Given the description of an element on the screen output the (x, y) to click on. 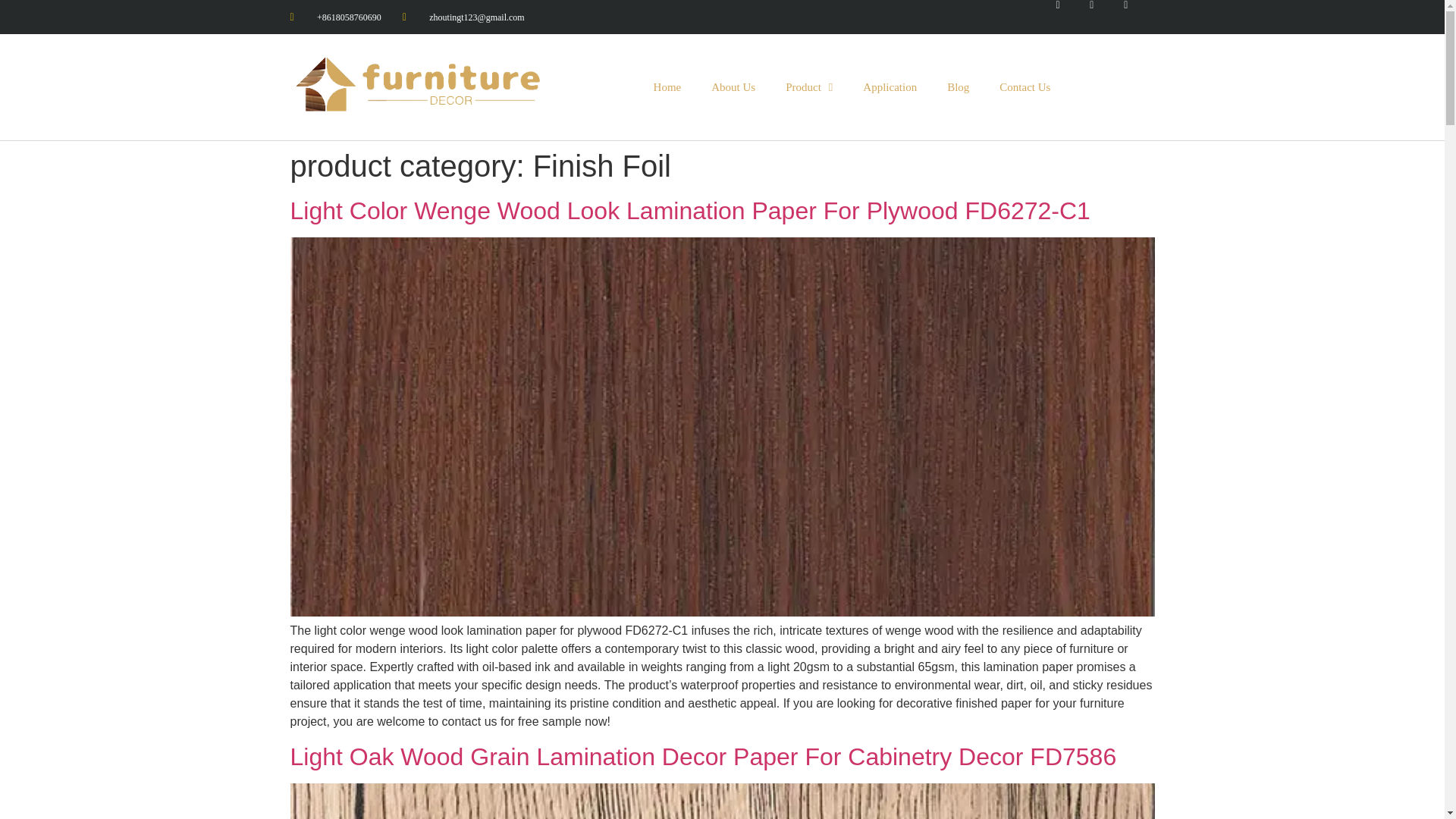
Application (889, 87)
Contact Us (1024, 87)
Home (668, 87)
Blog (957, 87)
Product (808, 87)
About Us (732, 87)
